Given the description of an element on the screen output the (x, y) to click on. 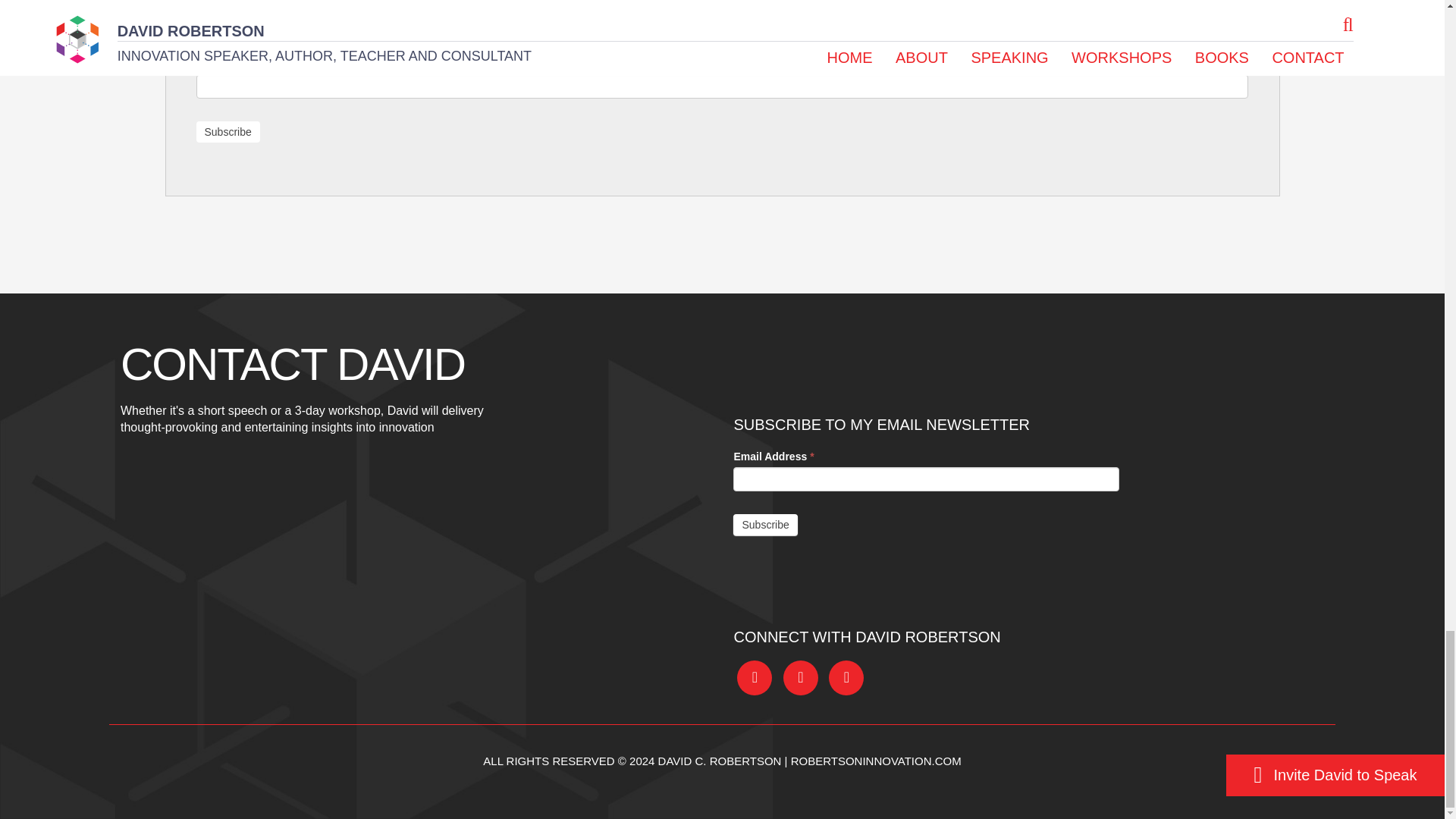
Subscribe (227, 131)
